Given the description of an element on the screen output the (x, y) to click on. 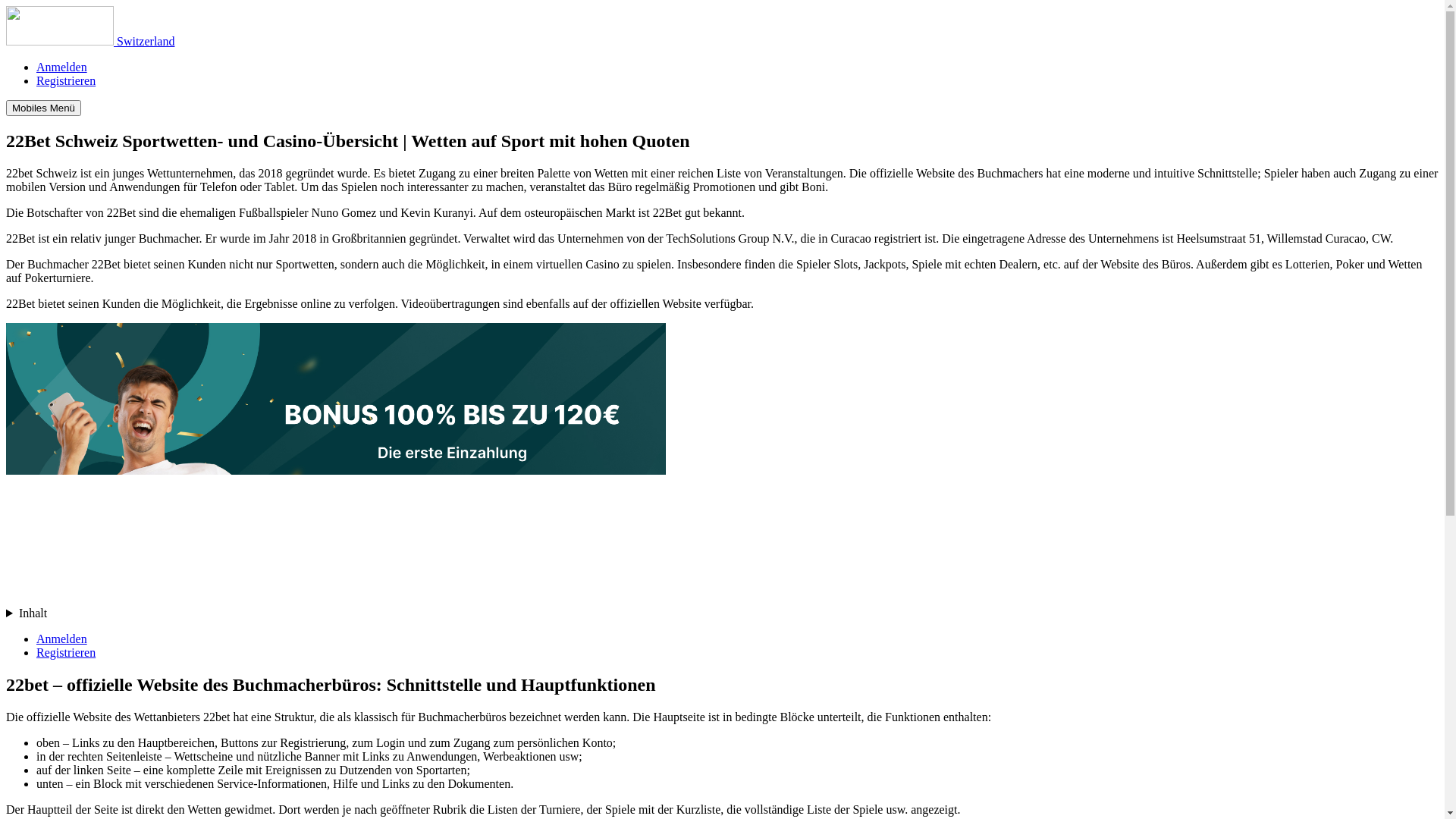
Switzerland Element type: text (90, 40)
logo Element type: hover (59, 25)
22bet casino no deposit bonus Element type: hover (335, 457)
Anmelden Element type: text (61, 638)
Registrieren Element type: text (65, 80)
Anmelden Element type: text (61, 66)
Registrieren Element type: text (65, 652)
